Given the description of an element on the screen output the (x, y) to click on. 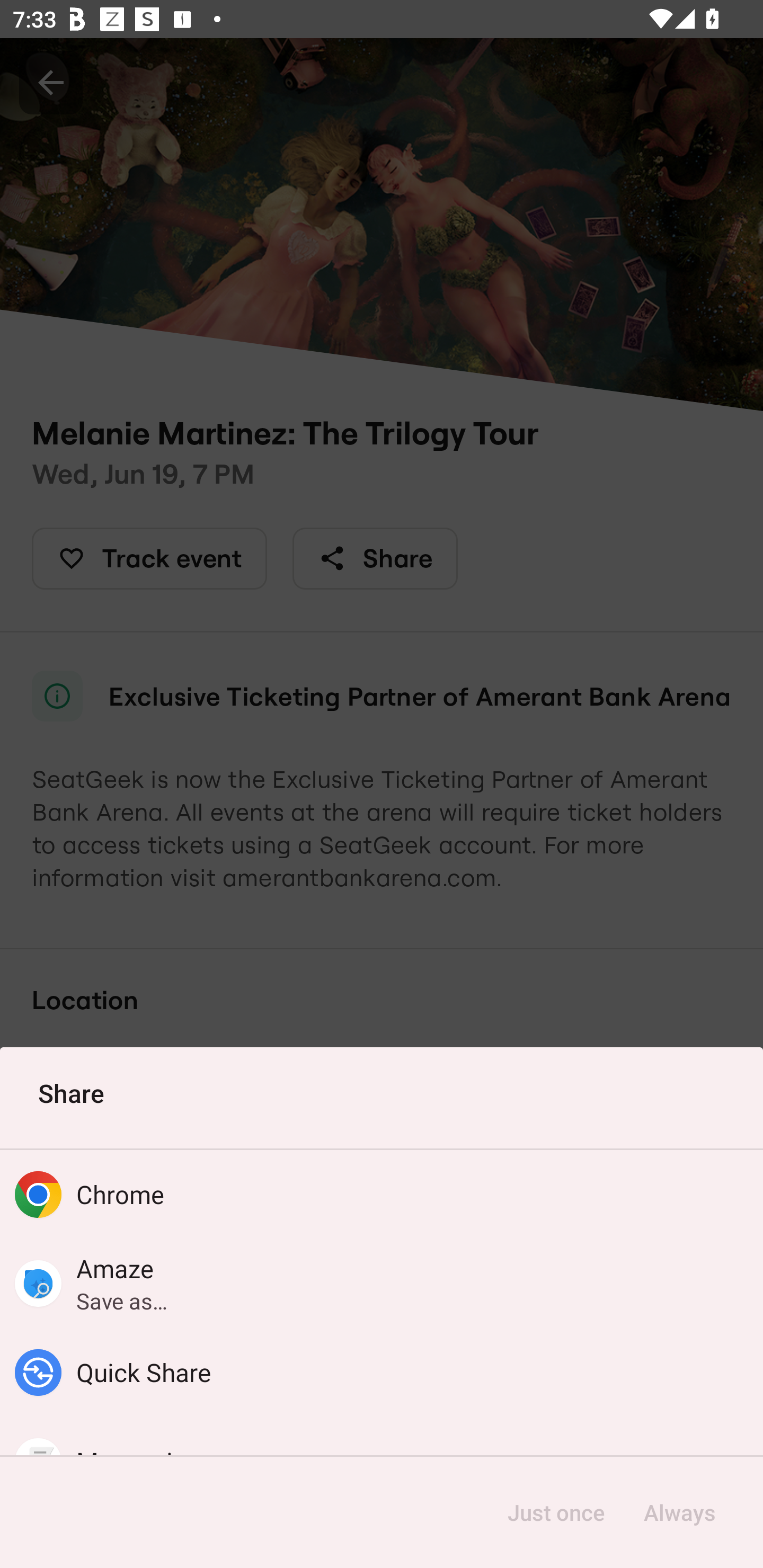
Chrome (381, 1193)
Amaze Save as… (381, 1283)
Quick Share (381, 1372)
Just once (556, 1512)
Always (679, 1512)
